Given the description of an element on the screen output the (x, y) to click on. 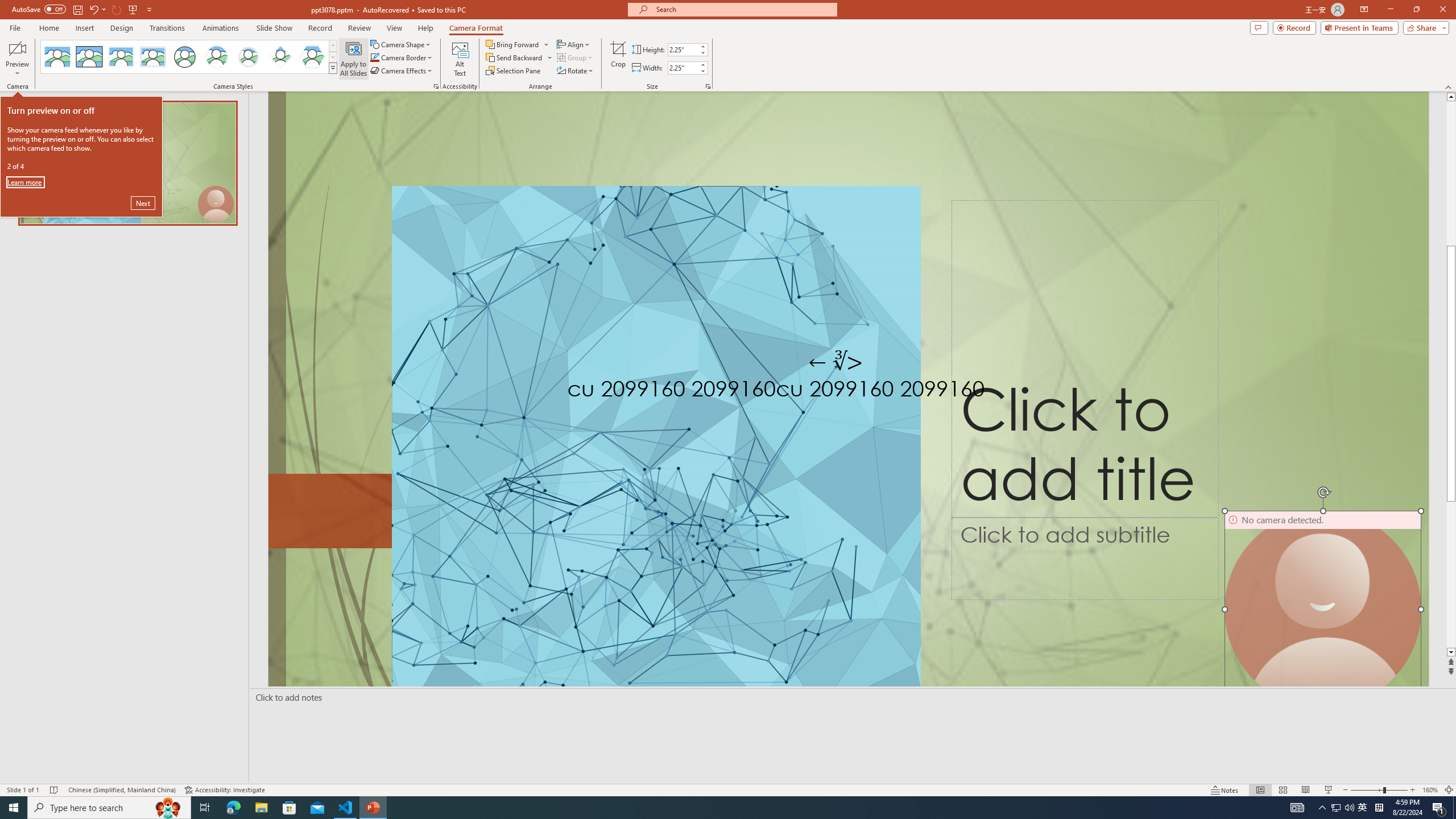
Align (574, 44)
Learn more (25, 181)
Bring Forward (517, 44)
Camera Styles (333, 67)
Cameo Width (682, 67)
